Given the description of an element on the screen output the (x, y) to click on. 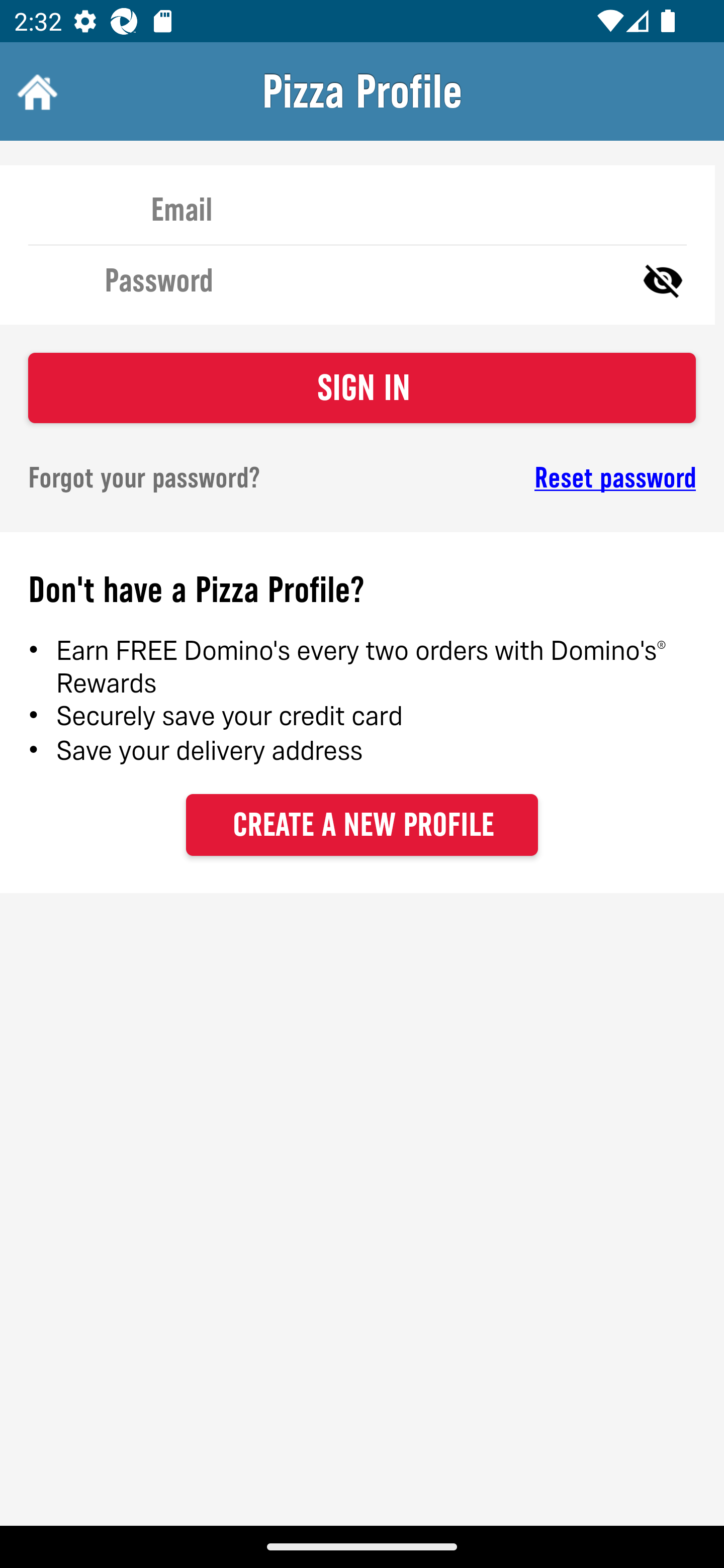
Home (35, 91)
Hide Password (663, 279)
SIGN IN (361, 387)
Reset password (545, 477)
CREATE A NEW PROFILE (361, 824)
